Given the description of an element on the screen output the (x, y) to click on. 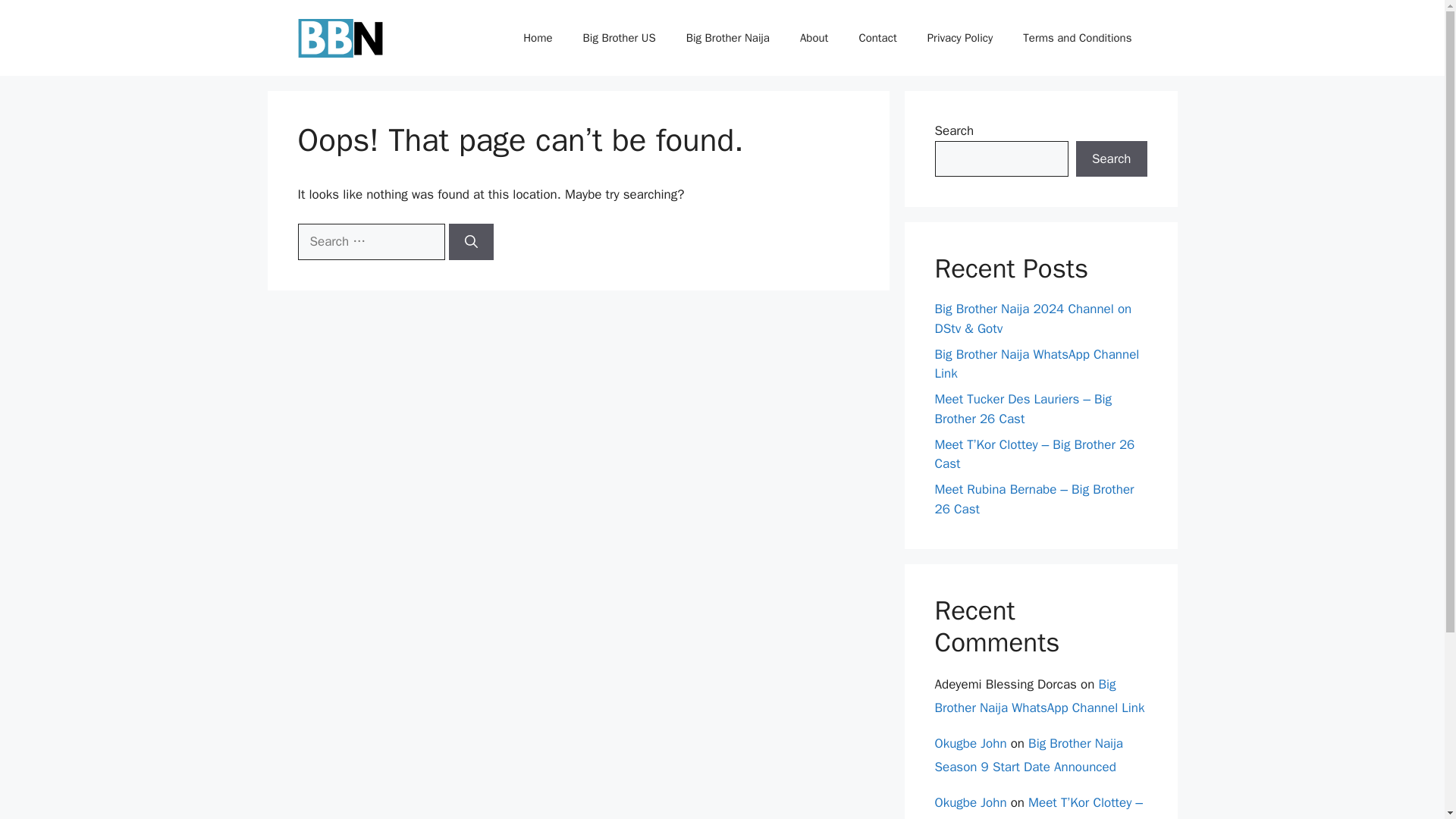
Big Brother US (619, 37)
Contact (877, 37)
Search (1111, 158)
Terms and Conditions (1077, 37)
Big Brother Naija (727, 37)
Big Brother Naija Season 9 Start Date Announced (1028, 754)
Home (537, 37)
Okugbe John (970, 802)
About (813, 37)
Search for: (370, 241)
Big Brother Naija WhatsApp Channel Link (1039, 695)
Privacy Policy (960, 37)
Big Brother Naija WhatsApp Channel Link (1036, 363)
Okugbe John (970, 743)
